Given the description of an element on the screen output the (x, y) to click on. 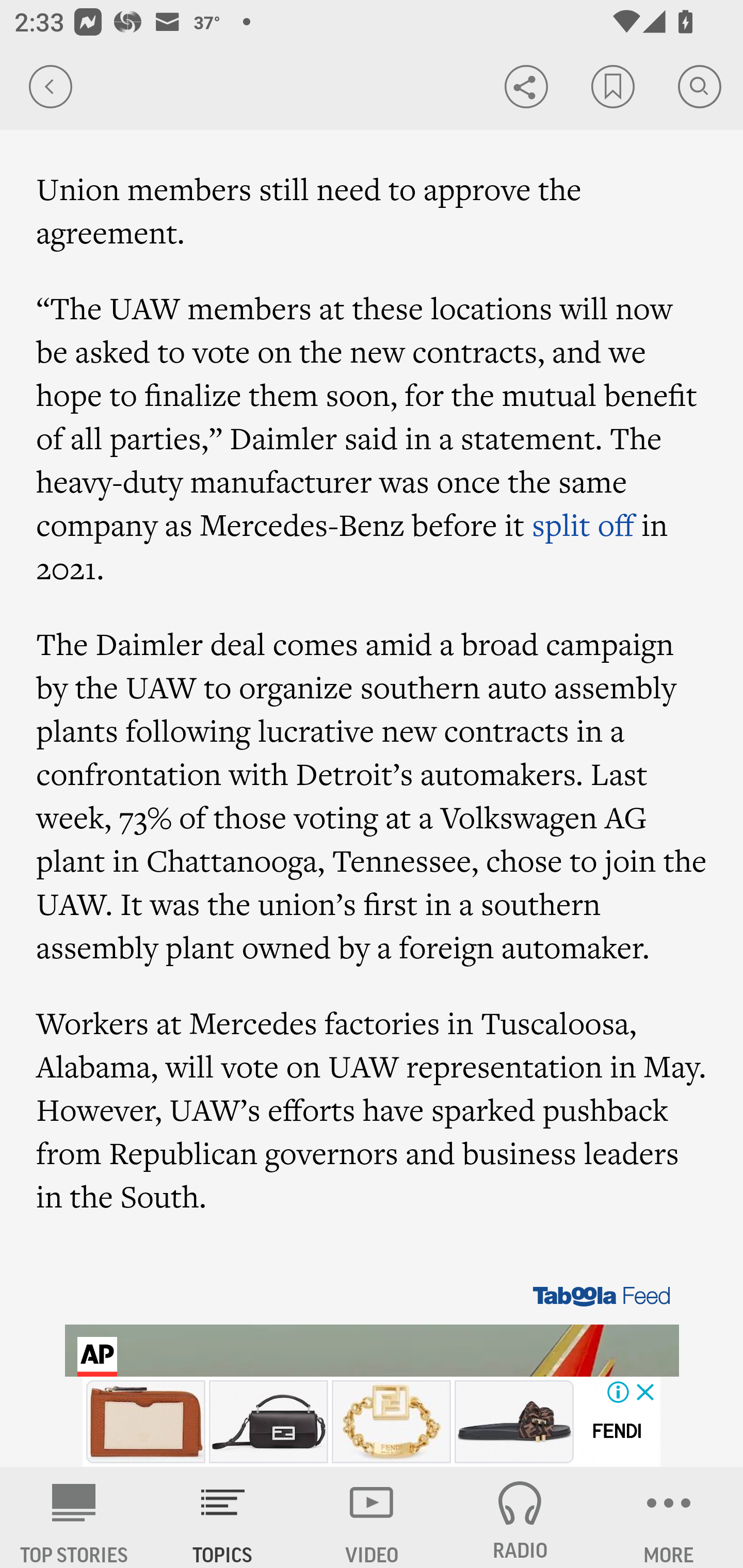
split off (583, 524)
fendi-feel-brown-satin-slides-8x8142ae7sf0r7v (513, 1420)
AP News TOP STORIES (74, 1517)
TOPICS (222, 1517)
VIDEO (371, 1517)
RADIO (519, 1517)
MORE (668, 1517)
